Given the description of an element on the screen output the (x, y) to click on. 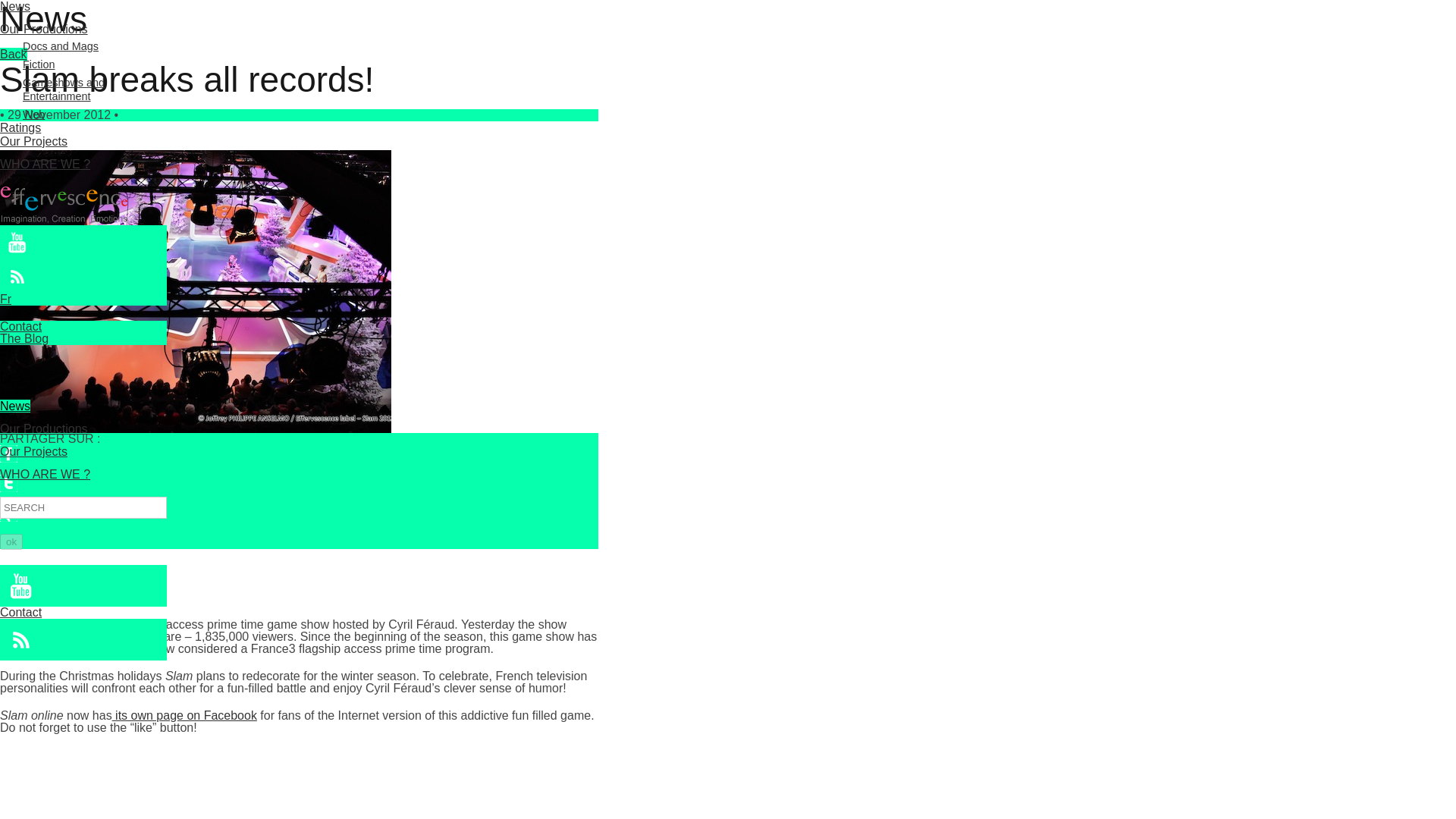
Our Productions (43, 428)
En (7, 350)
ok (11, 541)
Ratings (20, 127)
Fiction (39, 64)
The Blog (24, 338)
Our Productions (43, 29)
Our Projects (33, 451)
Slam breaks all records! (195, 291)
Web (34, 114)
Contact (21, 612)
SEARCH (83, 507)
WHO ARE WE ? (45, 473)
News (15, 405)
News (15, 6)
